Given the description of an element on the screen output the (x, y) to click on. 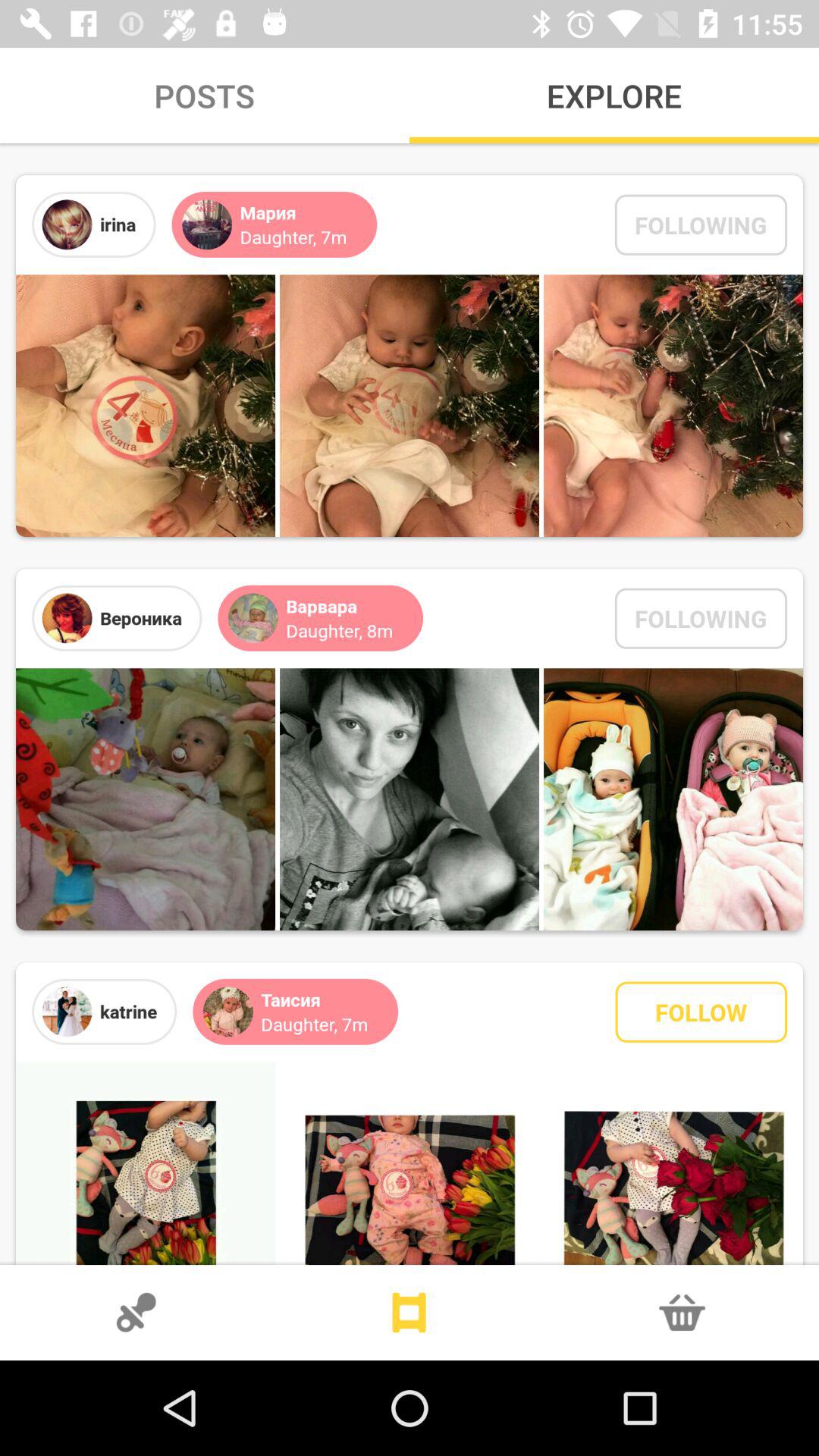
delete selected photos (682, 1312)
